Given the description of an element on the screen output the (x, y) to click on. 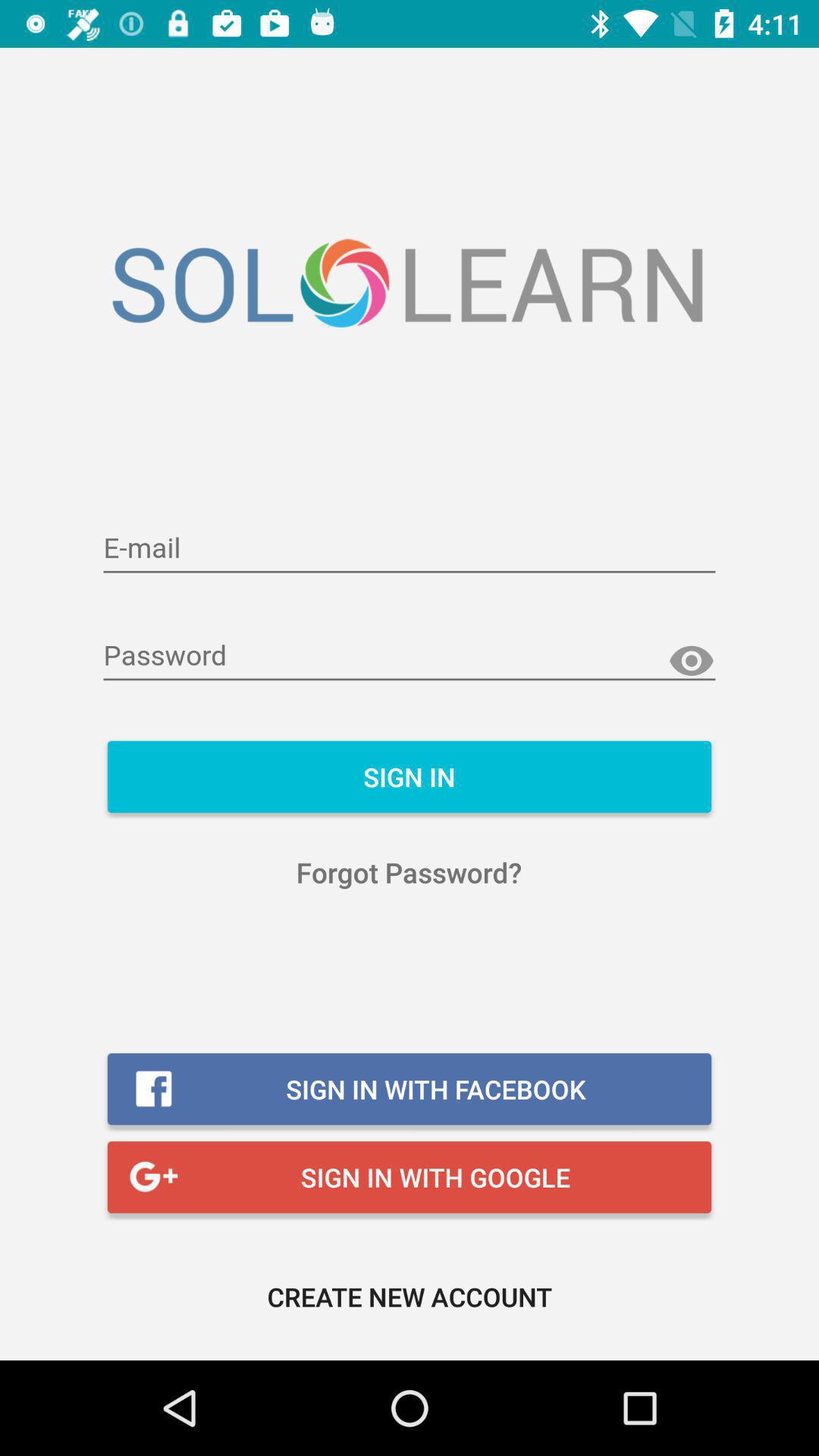
turn off item above the sign in with (409, 872)
